Given the description of an element on the screen output the (x, y) to click on. 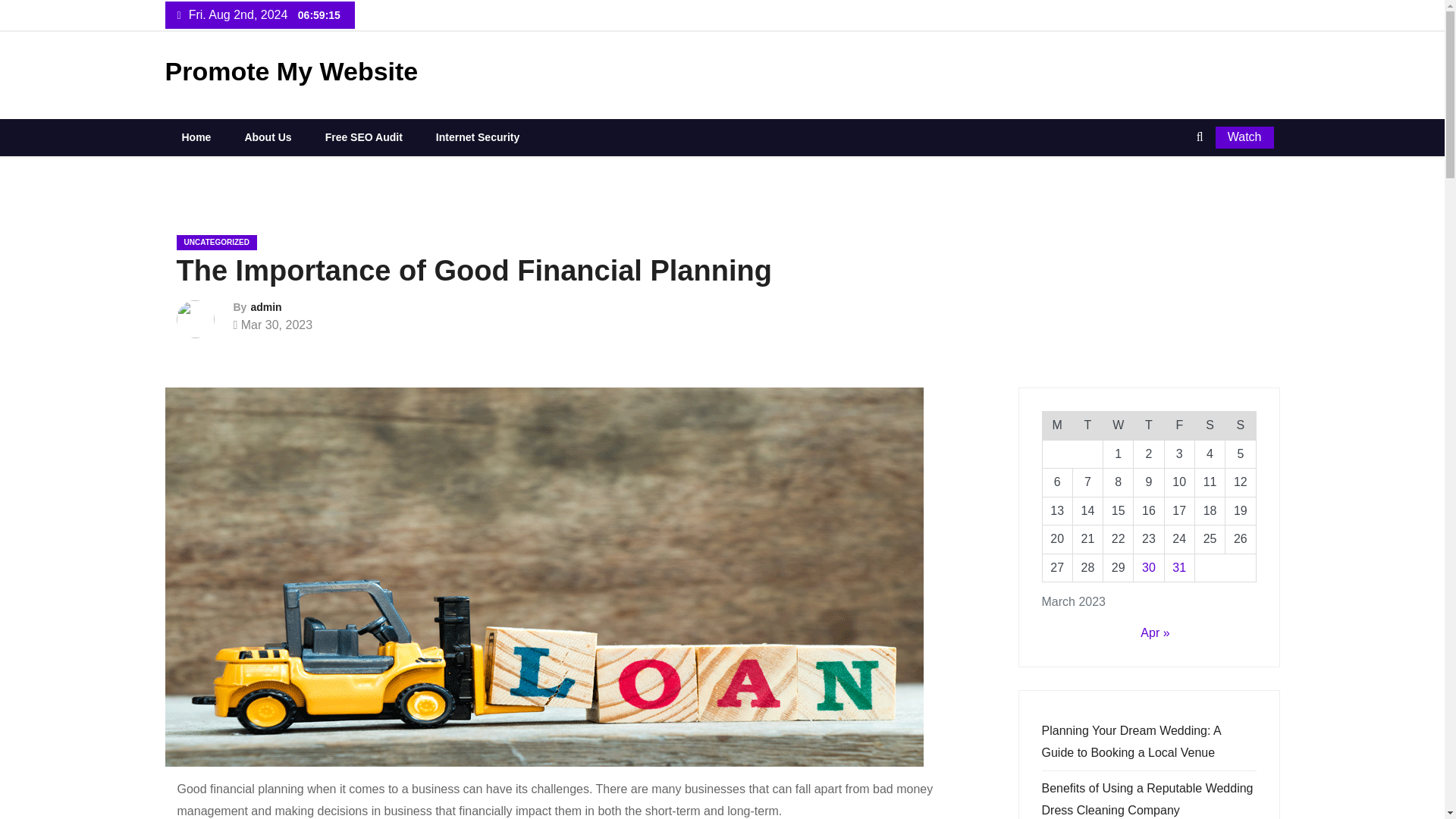
Wednesday (1118, 425)
Home (196, 137)
About Us (267, 137)
Watch (1244, 137)
Saturday (1208, 425)
Free SEO Audit (363, 137)
Friday (1178, 425)
Tuesday (1086, 425)
Monday (1056, 425)
admin (265, 306)
Promote My Website (292, 70)
Home (196, 137)
Sunday (1240, 425)
Internet Security (477, 137)
UNCATEGORIZED (216, 242)
